Given the description of an element on the screen output the (x, y) to click on. 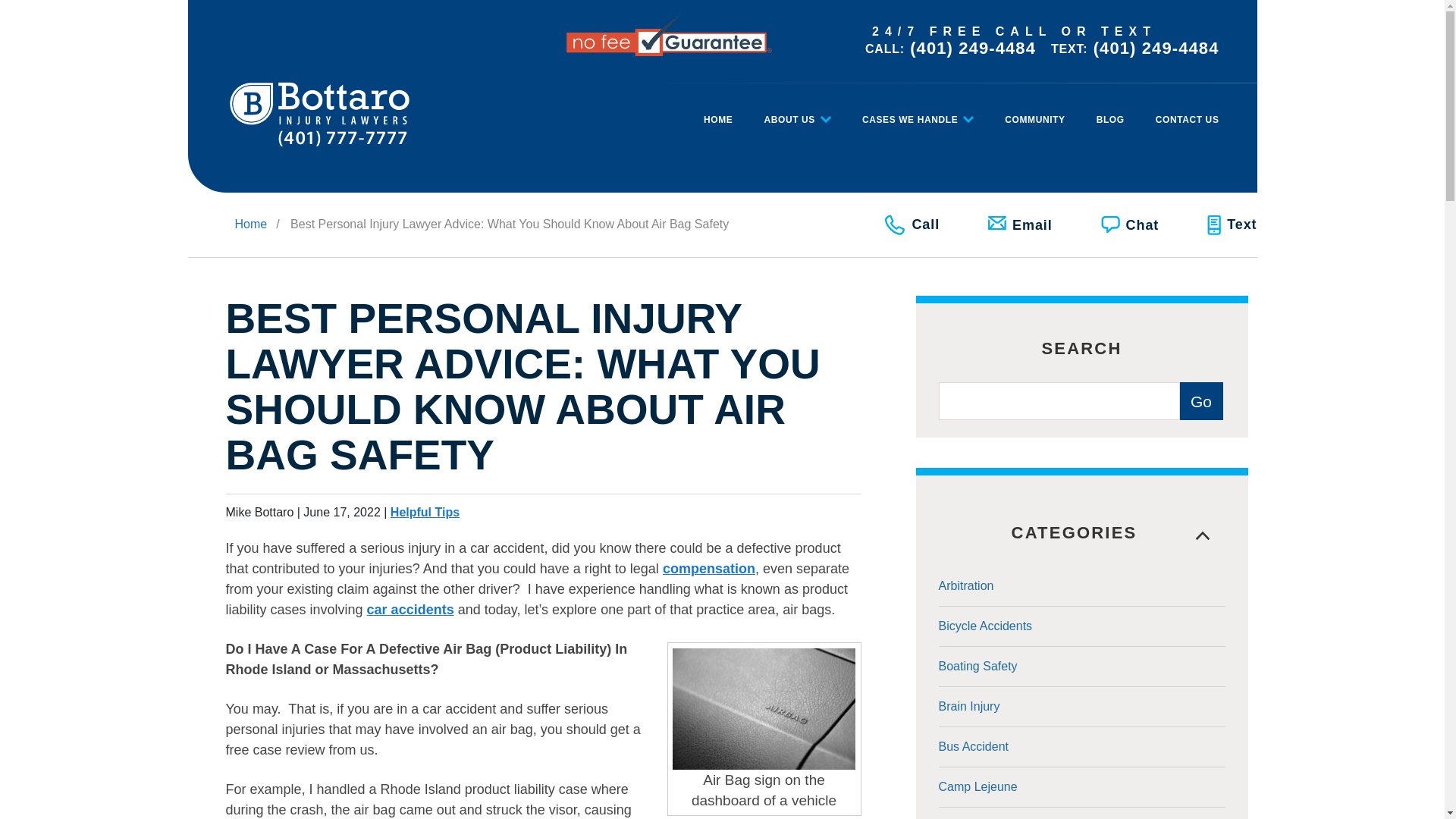
About Us (796, 112)
ABOUT US (796, 112)
Contact Us (1185, 112)
Cases We Handle (917, 112)
Go (1201, 401)
Community (1034, 112)
Home (717, 112)
CASES WE HANDLE (917, 112)
Blog (1110, 112)
HOME (717, 112)
